Given the description of an element on the screen output the (x, y) to click on. 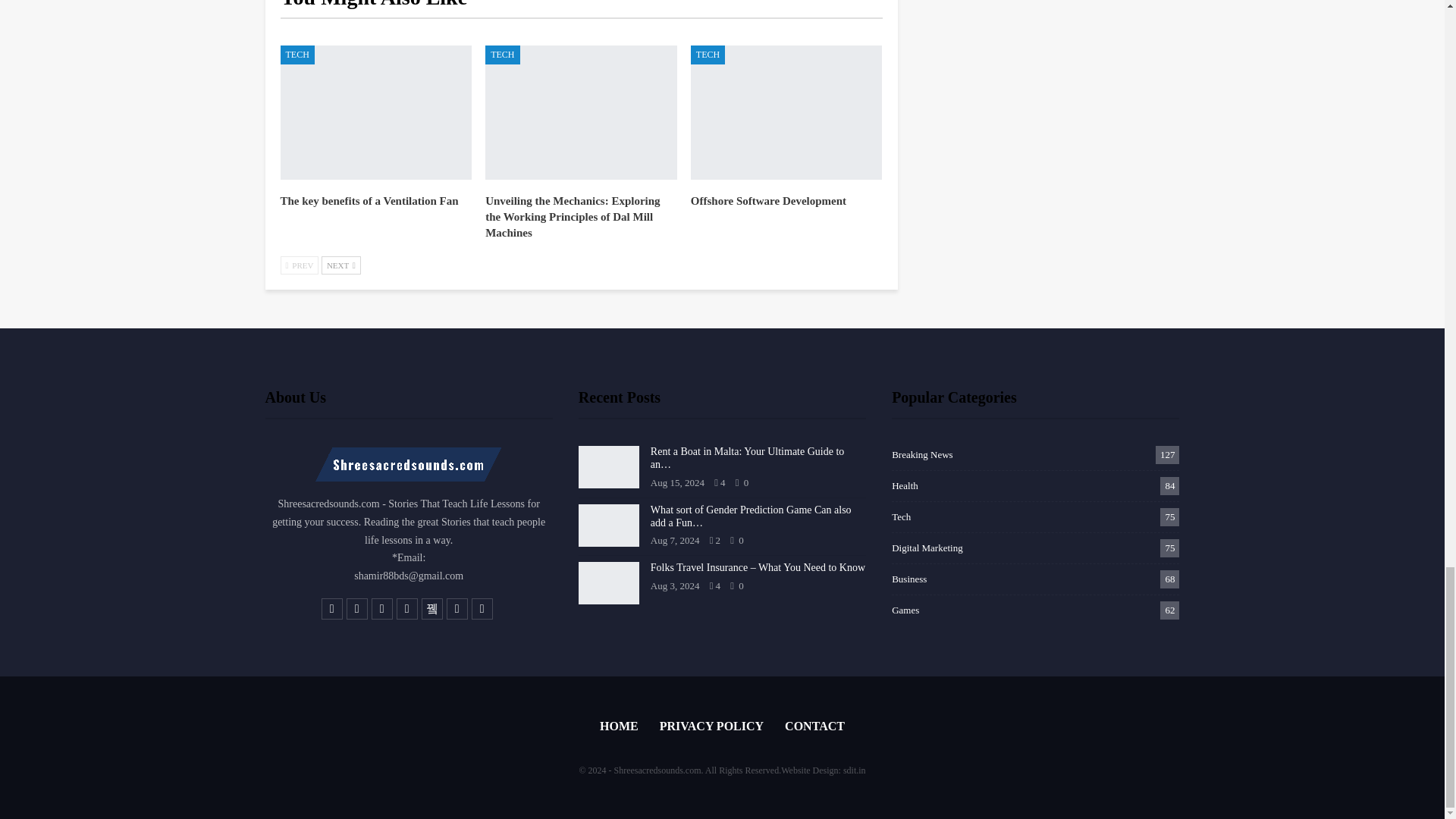
Offshore Software Development (786, 112)
The key benefits of a Ventilation Fan (376, 112)
Next (341, 265)
Previous (299, 265)
Offshore Software Development (767, 200)
The key benefits of a Ventilation Fan (369, 200)
